Given the description of an element on the screen output the (x, y) to click on. 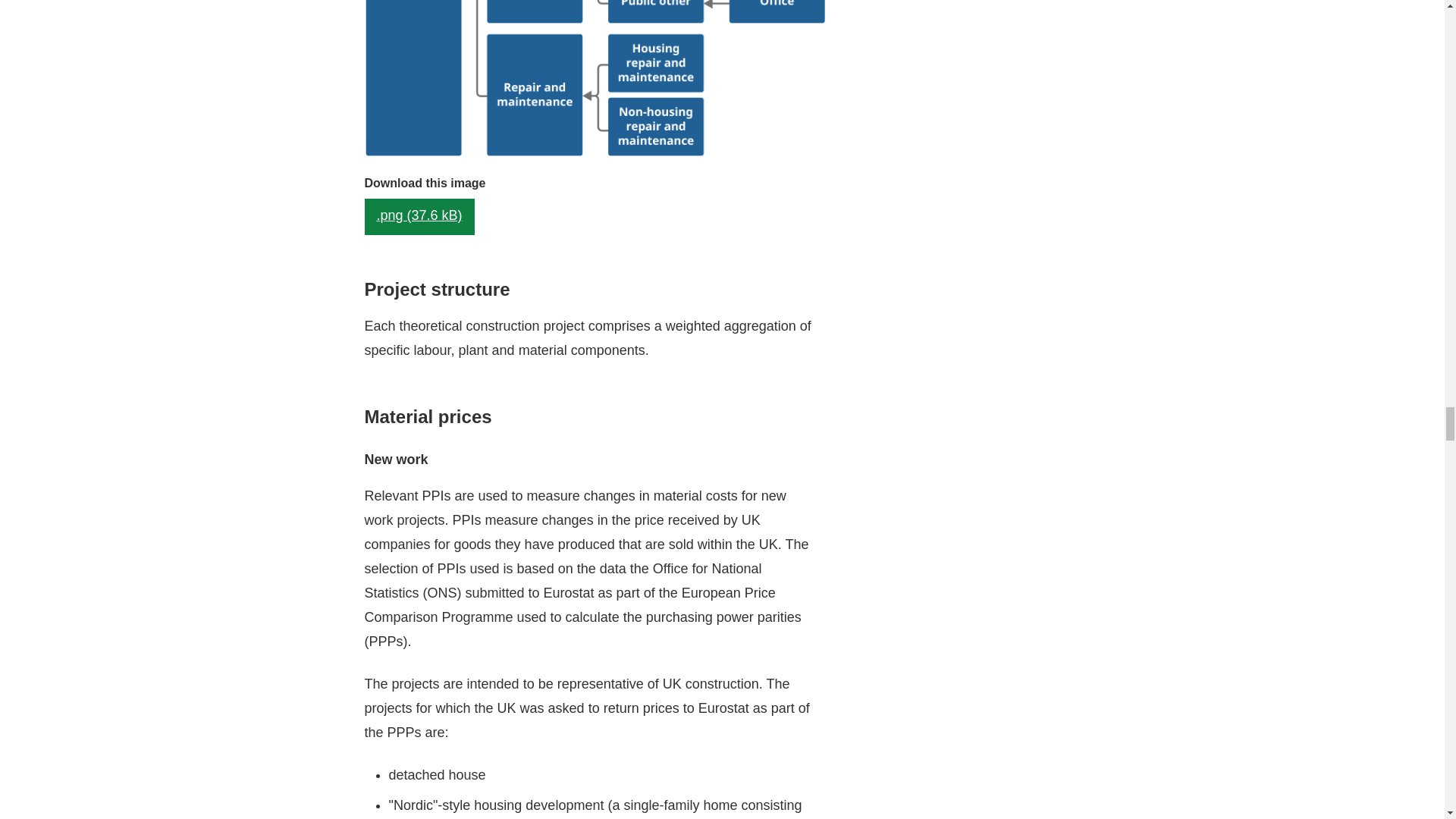
Download as png (419, 217)
